Given the description of an element on the screen output the (x, y) to click on. 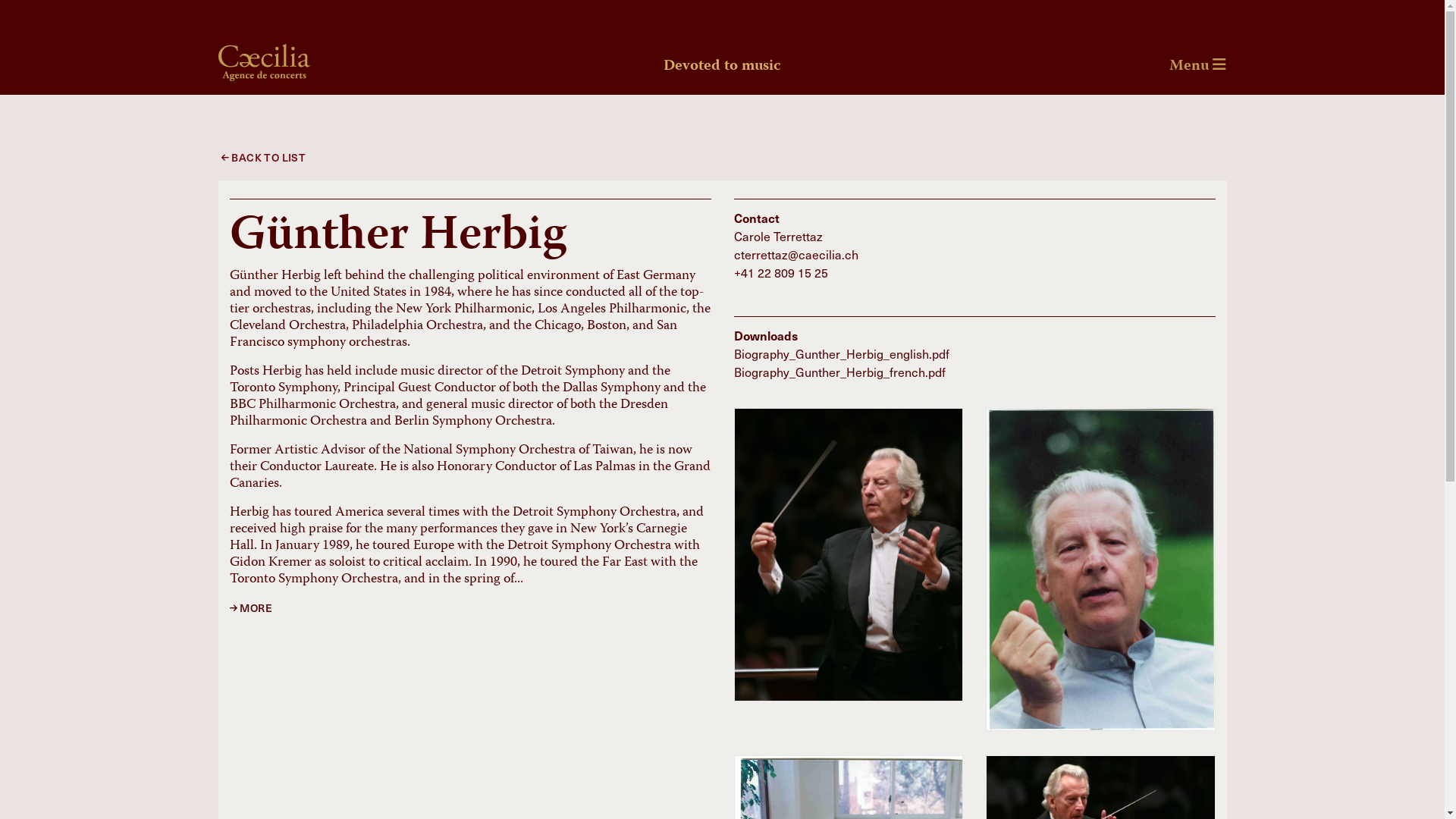
cterrettaz@caecilia.ch Element type: text (796, 253)
Menu Element type: text (1197, 65)
BACK TO LIST Element type: text (262, 157)
MORE Element type: text (250, 607)
Caecilia Element type: hover (264, 65)
Biography_Gunther_Herbig_french.pdf Element type: text (839, 371)
Biography_Gunther_Herbig_english.pdf Element type: text (841, 353)
